Given the description of an element on the screen output the (x, y) to click on. 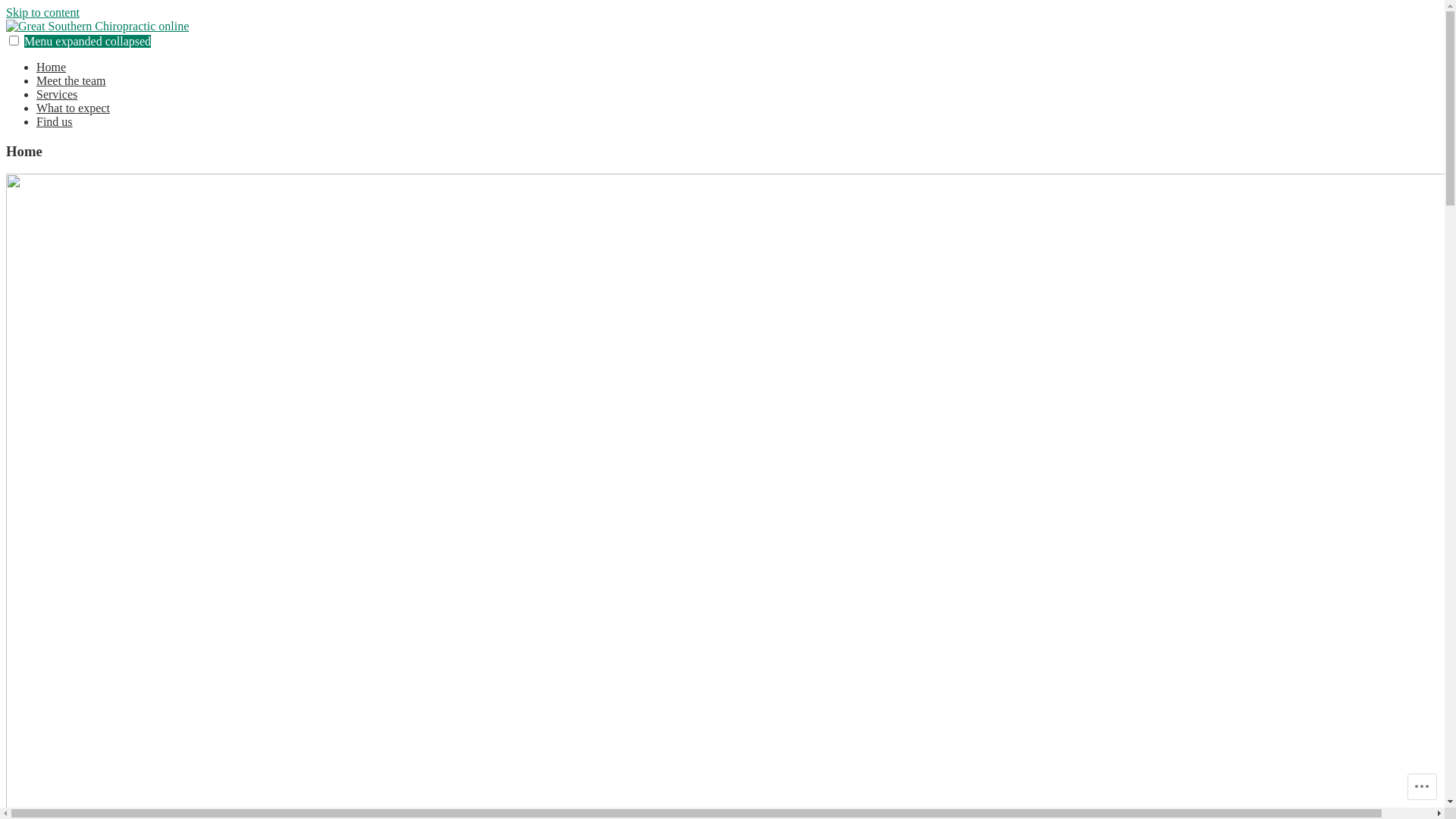
Meet the team Element type: text (71, 80)
What to expect Element type: text (72, 107)
Great Southern Chiropractic online Element type: text (91, 51)
Home Element type: text (50, 66)
Services Element type: text (56, 93)
Skip to content Element type: text (42, 12)
Find us Element type: text (54, 121)
